Given the description of an element on the screen output the (x, y) to click on. 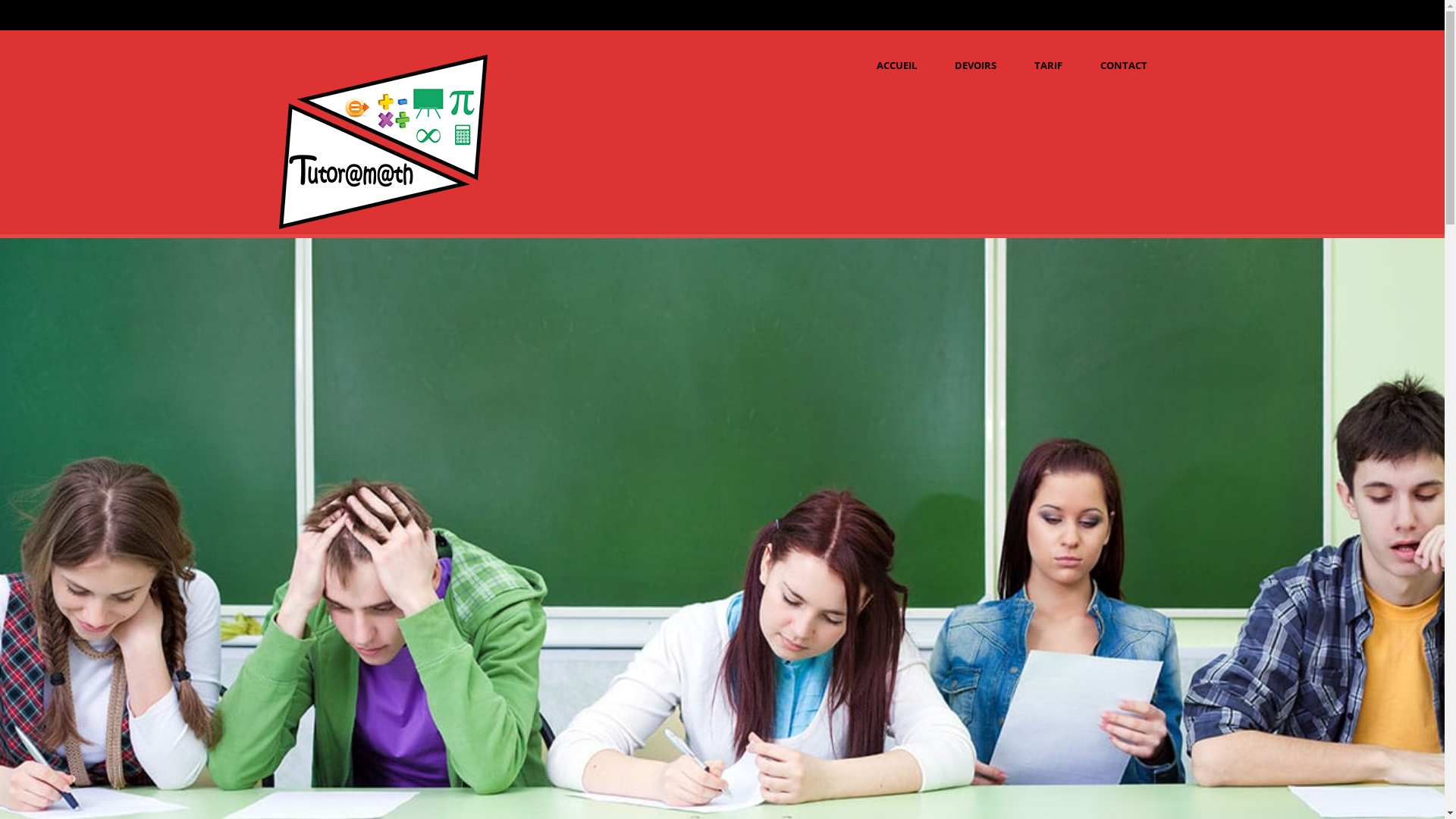
ACCUEIL Element type: text (895, 65)
CONTACT Element type: text (1123, 65)
DEVOIRS Element type: text (975, 65)
TARIF Element type: text (1047, 65)
